Given the description of an element on the screen output the (x, y) to click on. 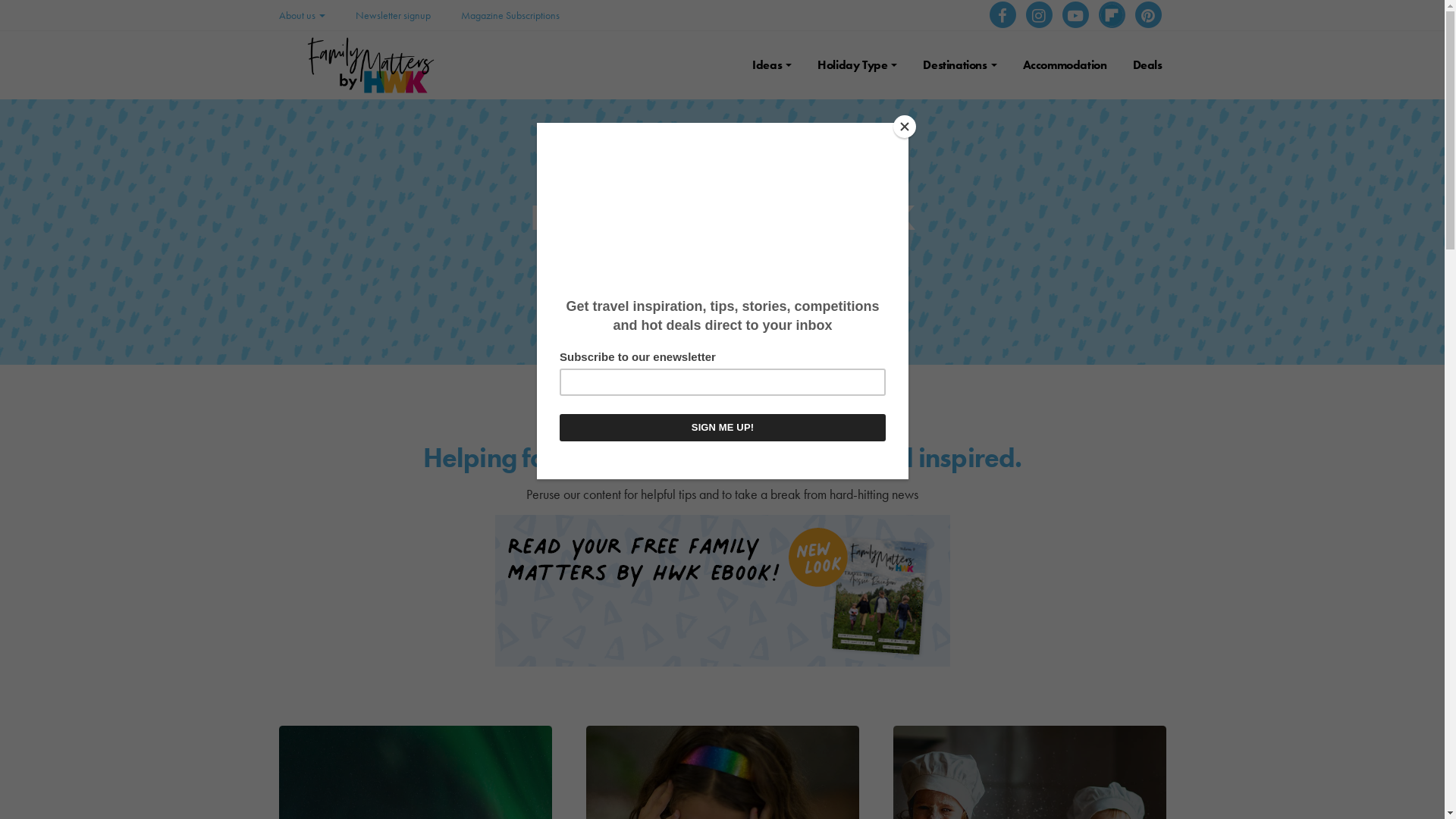
Deals Element type: text (1147, 65)
Holiday Type Element type: text (857, 65)
Newsletter signup Element type: text (391, 15)
Accommodation Element type: text (1064, 65)
Home Element type: text (665, 262)
Ideas Element type: text (771, 65)
Destinations Element type: text (959, 65)
Magazine Subscriptions Element type: text (510, 15)
About us Element type: text (302, 15)
